Given the description of an element on the screen output the (x, y) to click on. 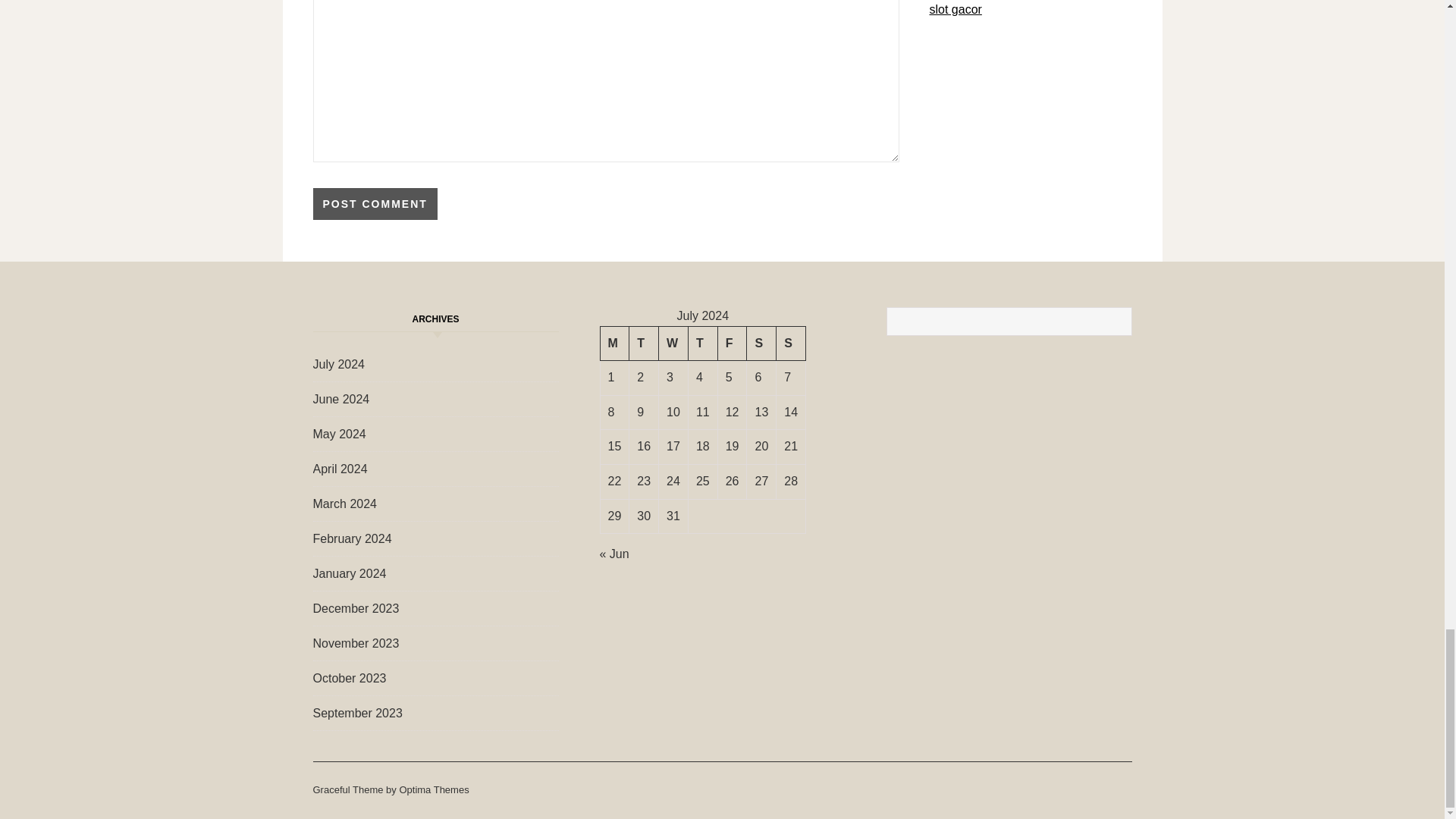
Post Comment (374, 204)
Post Comment (374, 204)
